Given the description of an element on the screen output the (x, y) to click on. 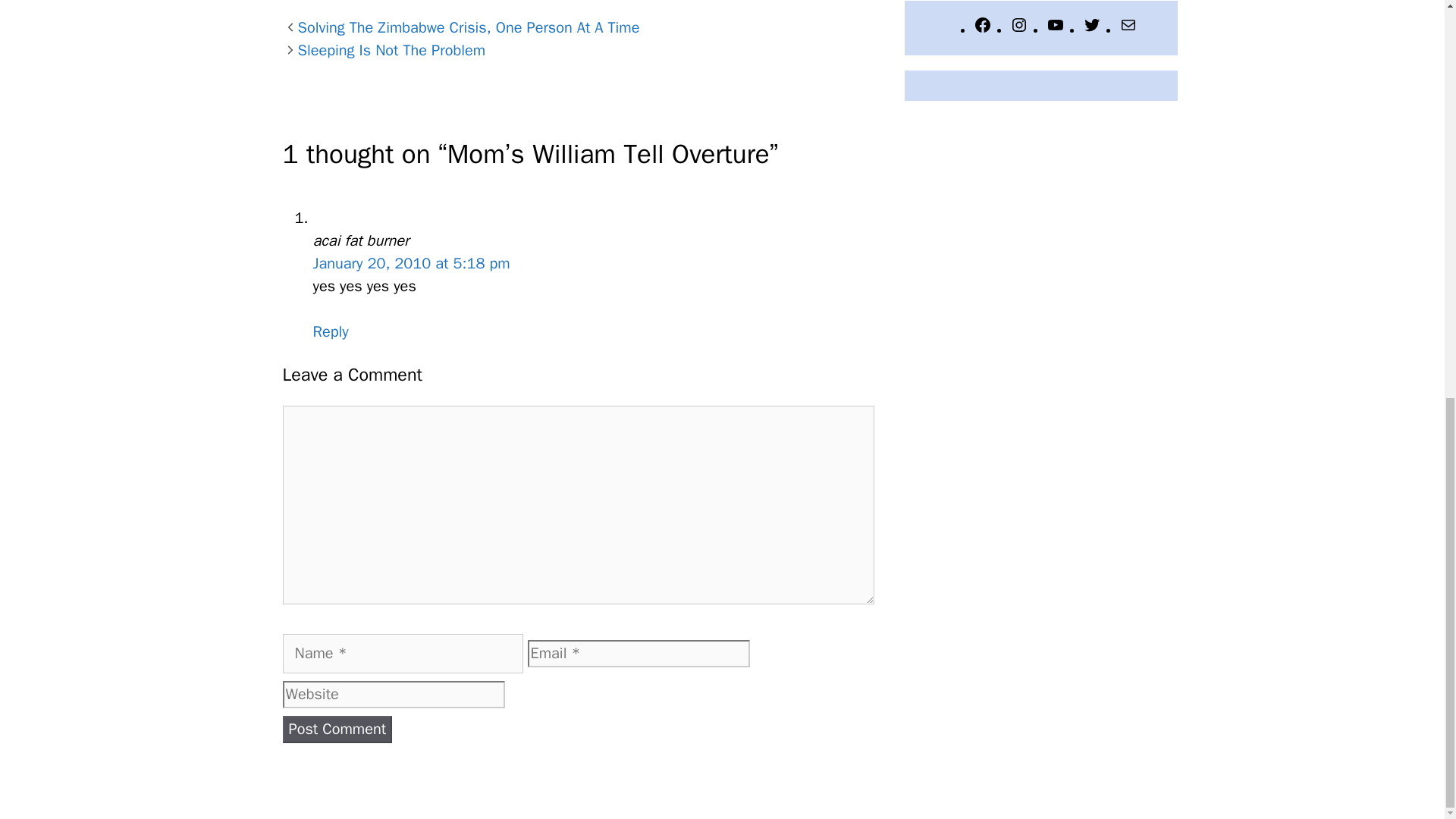
YouTube (1055, 29)
Facebook (982, 29)
Sleeping Is Not The Problem (390, 49)
January 20, 2010 at 5:18 pm (411, 262)
Post Comment (336, 728)
Solving The Zimbabwe Crisis, One Person At A Time (468, 27)
Post Comment (336, 728)
Instagram (1018, 29)
Twitter (1091, 29)
Mail (1128, 29)
